Given the description of an element on the screen output the (x, y) to click on. 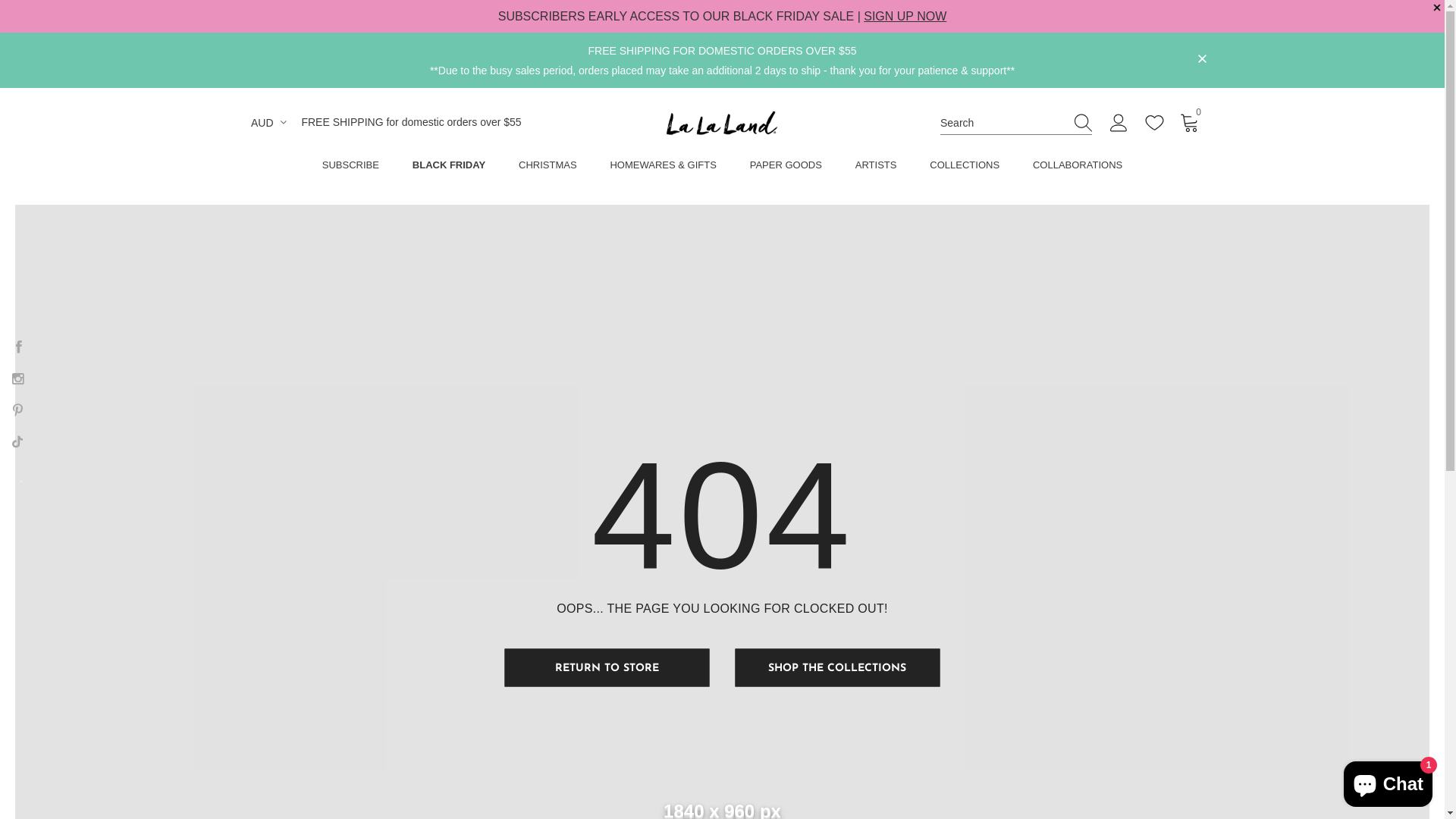
user Element type: text (1118, 125)
Facebook Element type: hover (18, 345)
SUBSCRIBE Element type: text (350, 167)
COLLABORATIONS Element type: text (1077, 167)
SHOP THE COLLECTIONS Element type: text (836, 667)
close Element type: hover (1201, 58)
HOMEWARES & GIFTS Element type: text (662, 167)
BLACK FRIDAY Element type: text (448, 167)
Instagram Element type: hover (17, 377)
ARTISTS Element type: text (876, 167)
RETURN TO STORE Element type: text (607, 667)
0 Element type: text (1189, 121)
CHRISTMAS Element type: text (547, 167)
Shopify online store chat Element type: hover (1388, 780)
Pinterest Element type: hover (17, 409)
COLLECTIONS Element type: text (964, 167)
Tiktok Element type: hover (17, 441)
PAPER GOODS Element type: text (785, 167)
Logo Element type: hover (721, 122)
